Given the description of an element on the screen output the (x, y) to click on. 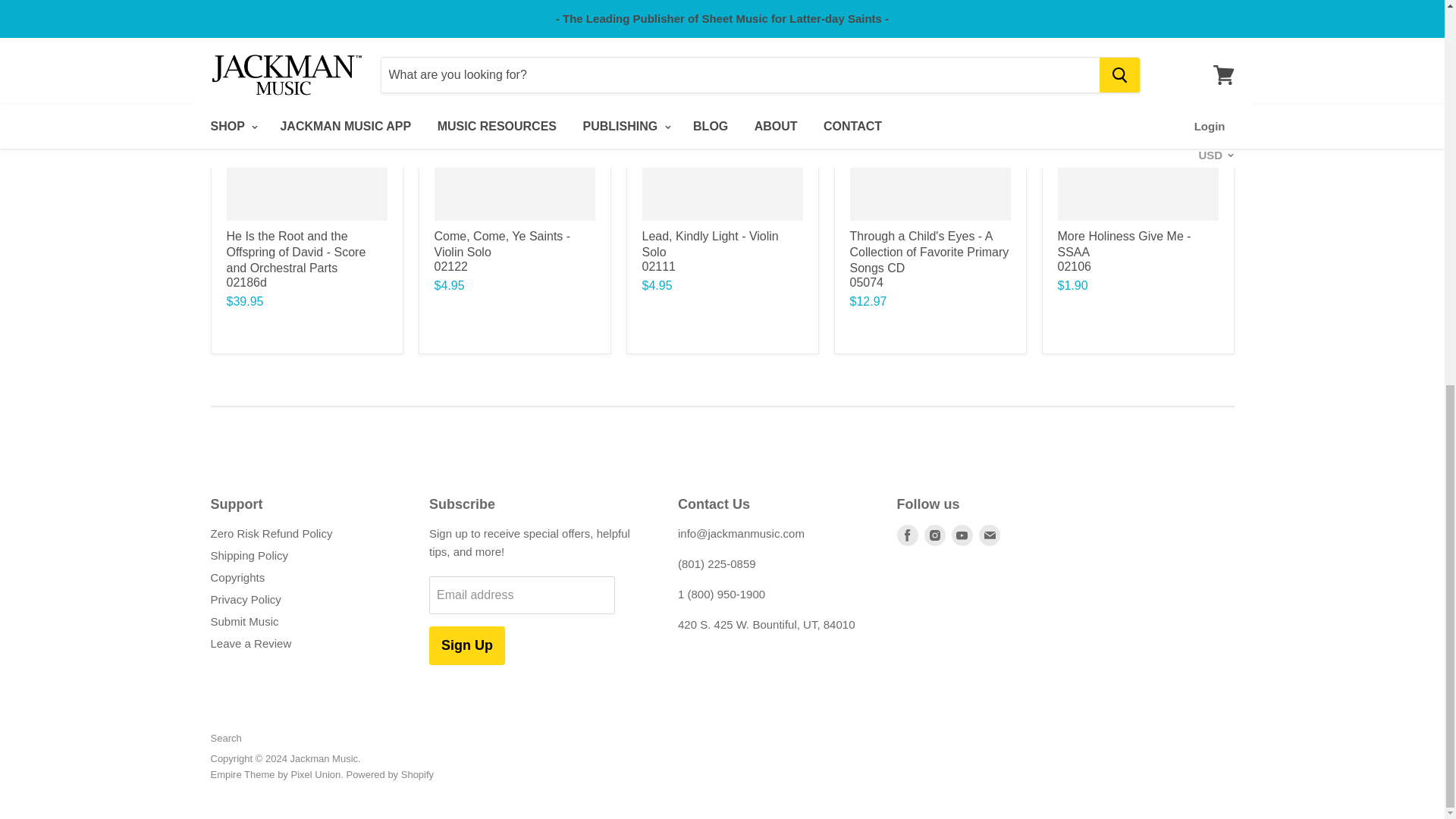
Instagram (933, 534)
E-mail (989, 534)
Youtube (961, 534)
Facebook (906, 534)
